Given the description of an element on the screen output the (x, y) to click on. 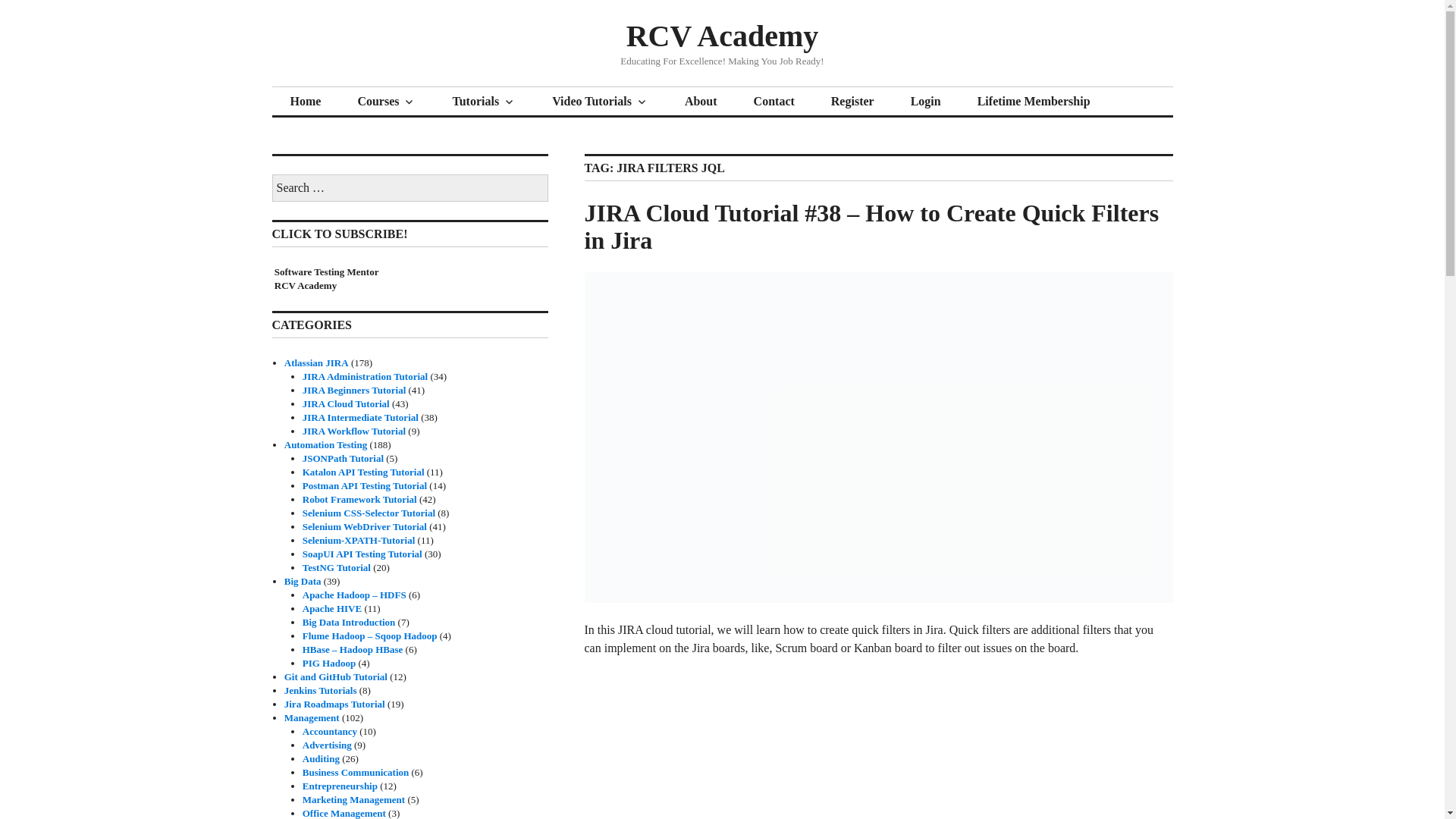
Tutorials (483, 101)
Courses (386, 101)
Home (304, 101)
RCV Academy (722, 35)
